Given the description of an element on the screen output the (x, y) to click on. 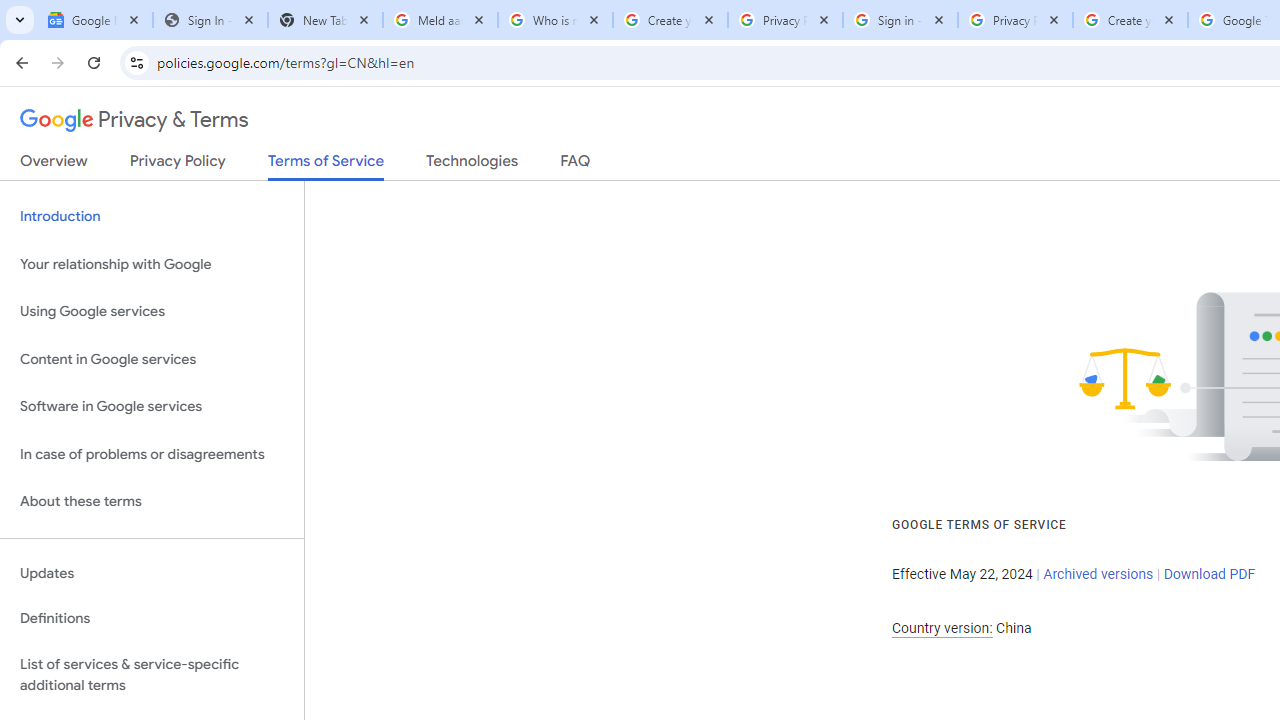
In case of problems or disagreements (152, 453)
Archived versions (1098, 574)
List of services & service-specific additional terms (152, 674)
Sign In - USA TODAY (209, 20)
Country version: (942, 628)
Software in Google services (152, 407)
Google News (95, 20)
